Given the description of an element on the screen output the (x, y) to click on. 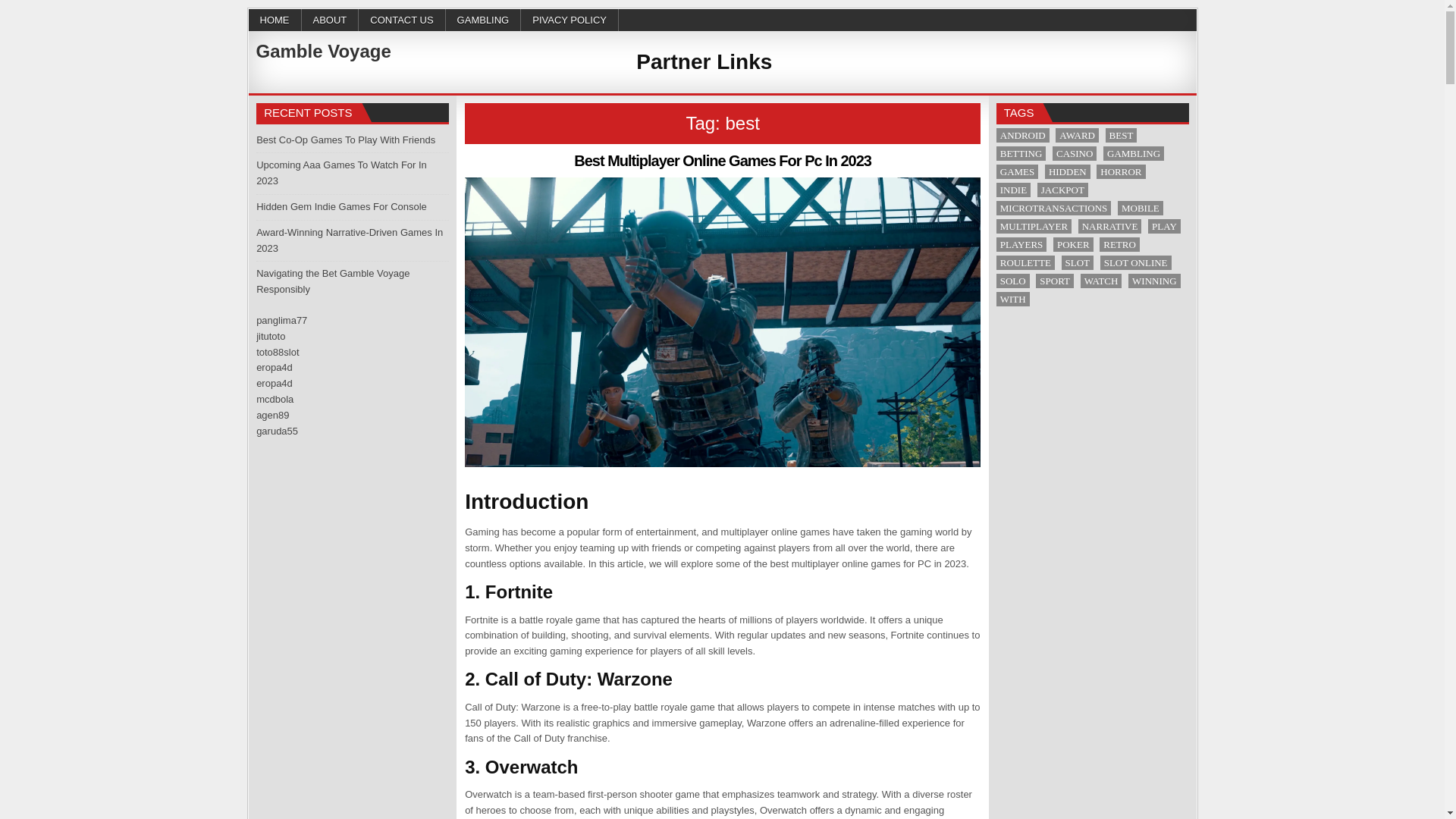
ANDROID (1022, 134)
Best Co-Op Games To Play With Friends (345, 139)
eropa4d (274, 383)
jitutoto (270, 336)
PIVACY POLICY (569, 20)
AWARD (1077, 134)
GAMES (1017, 171)
MICROTRANSACTIONS (1053, 207)
mcdbola (275, 398)
Upcoming Aaa Games To Watch For In 2023 (341, 172)
